Given the description of an element on the screen output the (x, y) to click on. 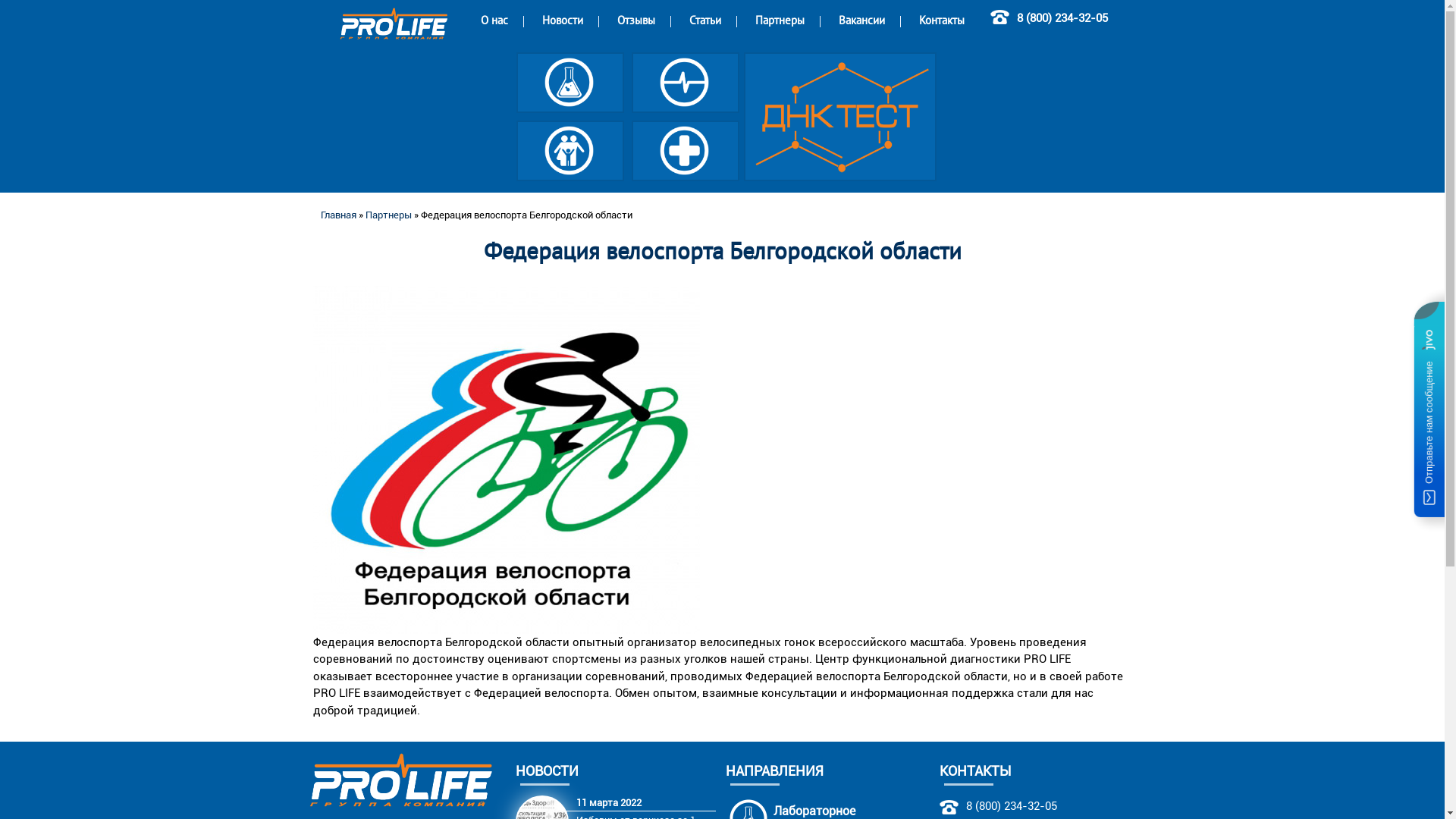
8 (800) 234-32-05 Element type: text (1011, 805)
8 (800) 234-32-05 Element type: text (1061, 18)
